Given the description of an element on the screen output the (x, y) to click on. 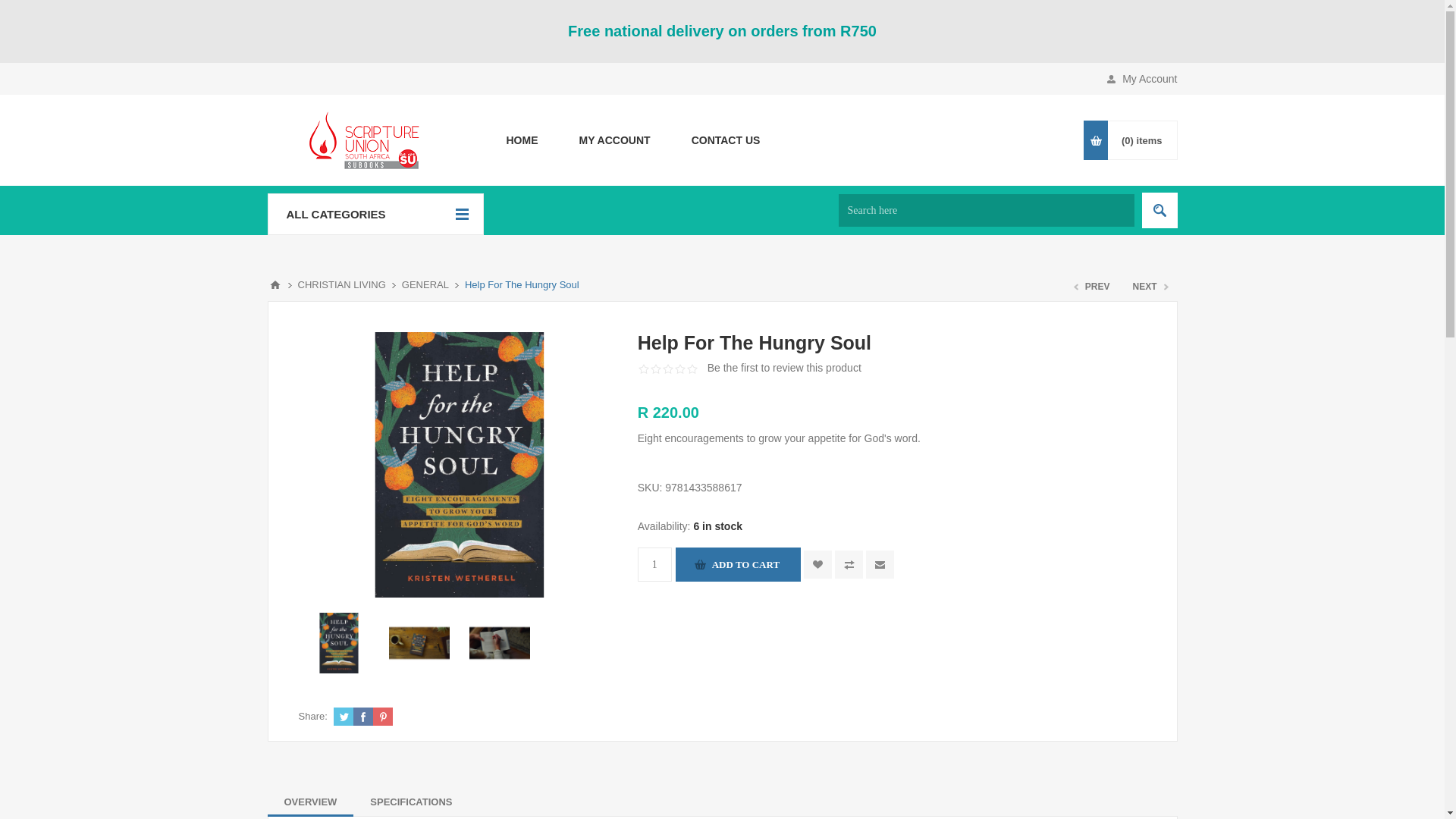
1 (654, 564)
My Account (613, 139)
HOME (520, 139)
Home (520, 139)
MY ACCOUNT (613, 139)
